Given the description of an element on the screen output the (x, y) to click on. 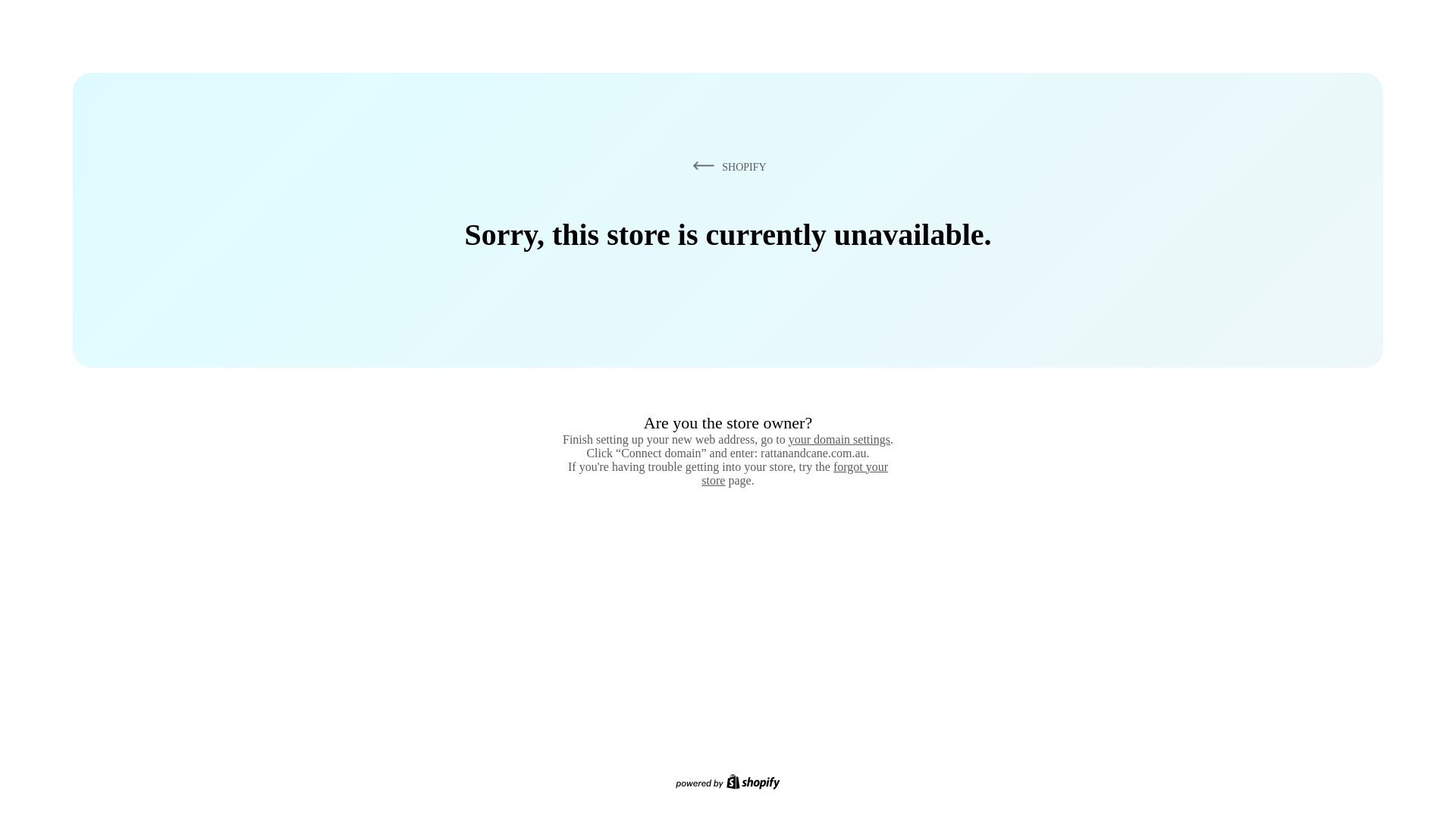
forgot your store (794, 473)
your domain settings (839, 439)
SHOPIFY (726, 166)
